Given the description of an element on the screen output the (x, y) to click on. 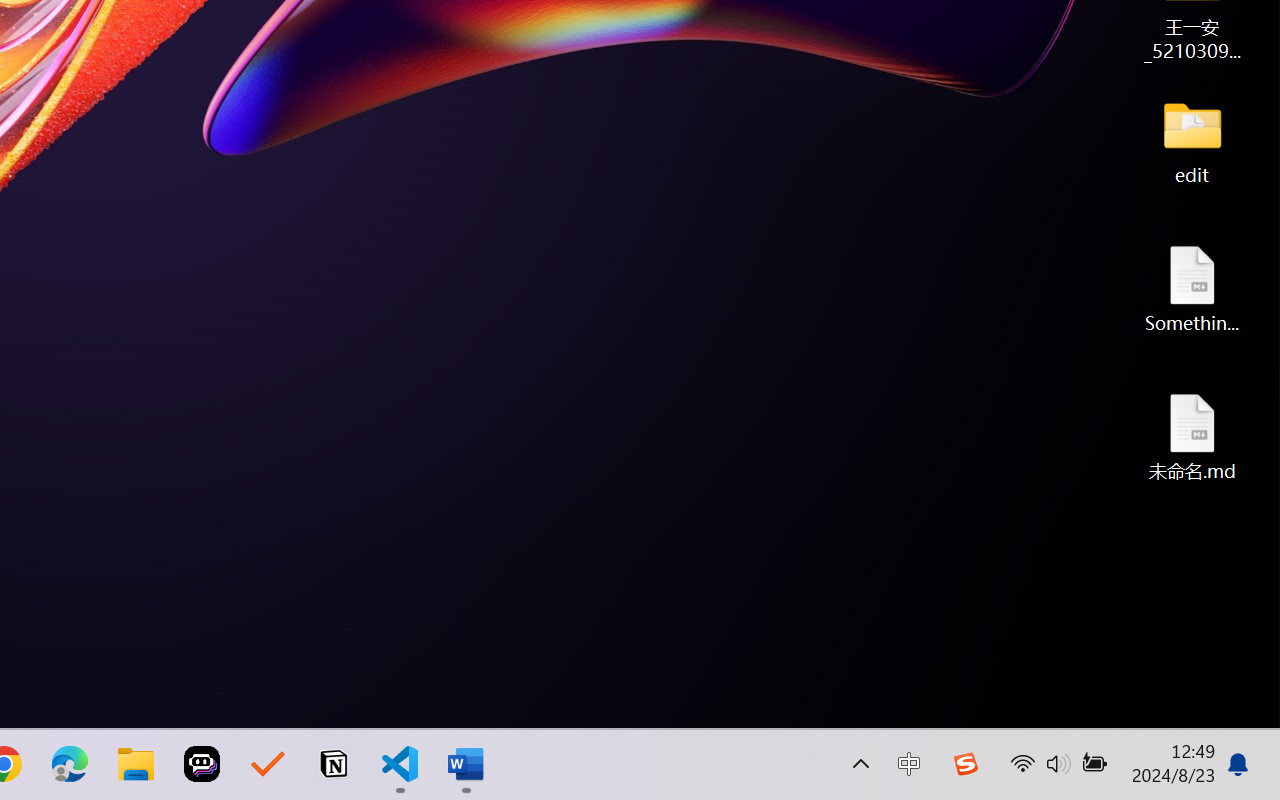
Something.md (1192, 288)
